Given the description of an element on the screen output the (x, y) to click on. 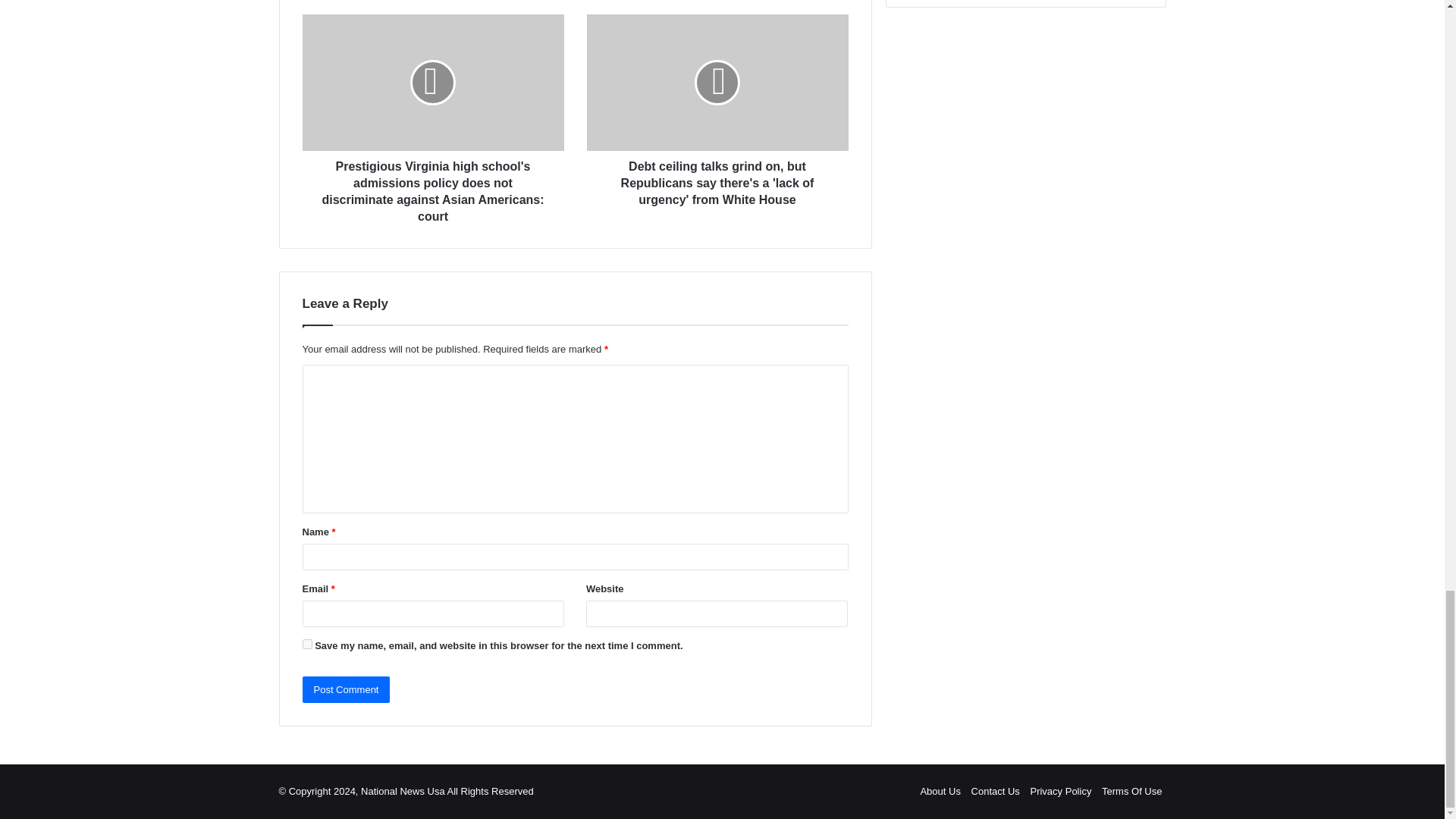
Post Comment (345, 689)
yes (306, 644)
